Given the description of an element on the screen output the (x, y) to click on. 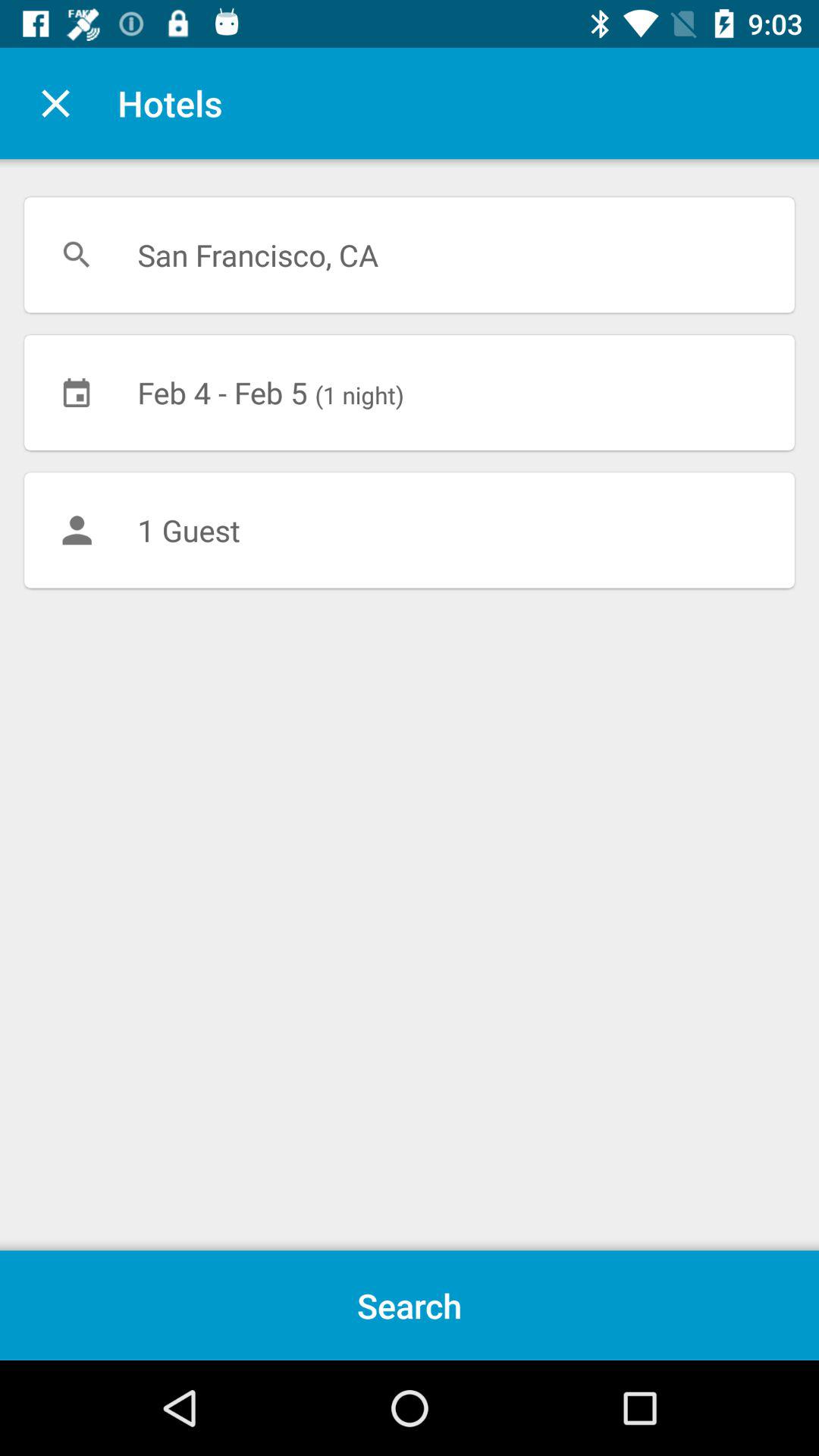
click 1 guest at the center (409, 530)
